Given the description of an element on the screen output the (x, y) to click on. 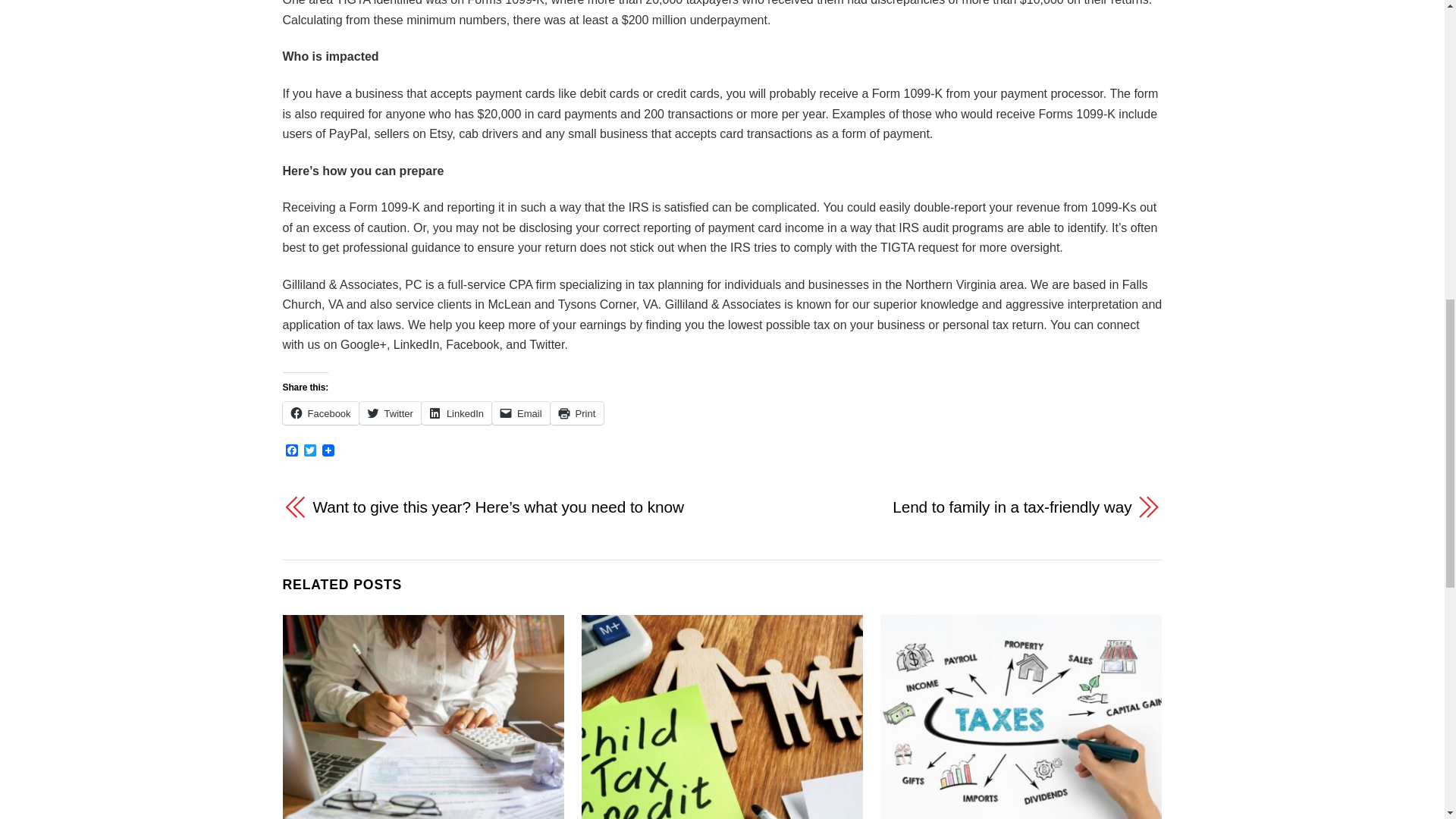
Click to print (577, 413)
Click to share on LinkedIn (457, 413)
Click to email a link to a friend (521, 413)
Click to share on Facebook (320, 413)
Facebook (290, 451)
Twitter (308, 451)
Click to share on Twitter (390, 413)
